Given the description of an element on the screen output the (x, y) to click on. 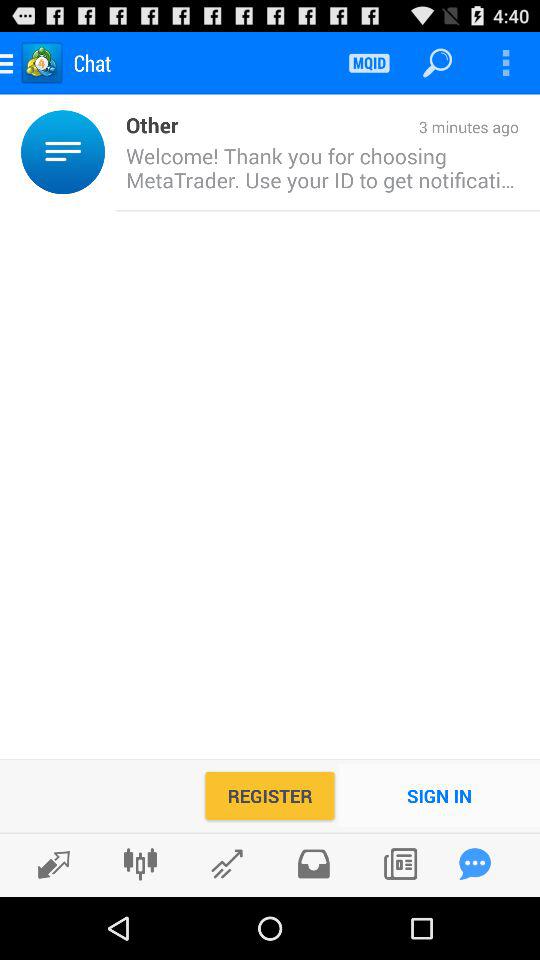
see stocks (226, 863)
